Given the description of an element on the screen output the (x, y) to click on. 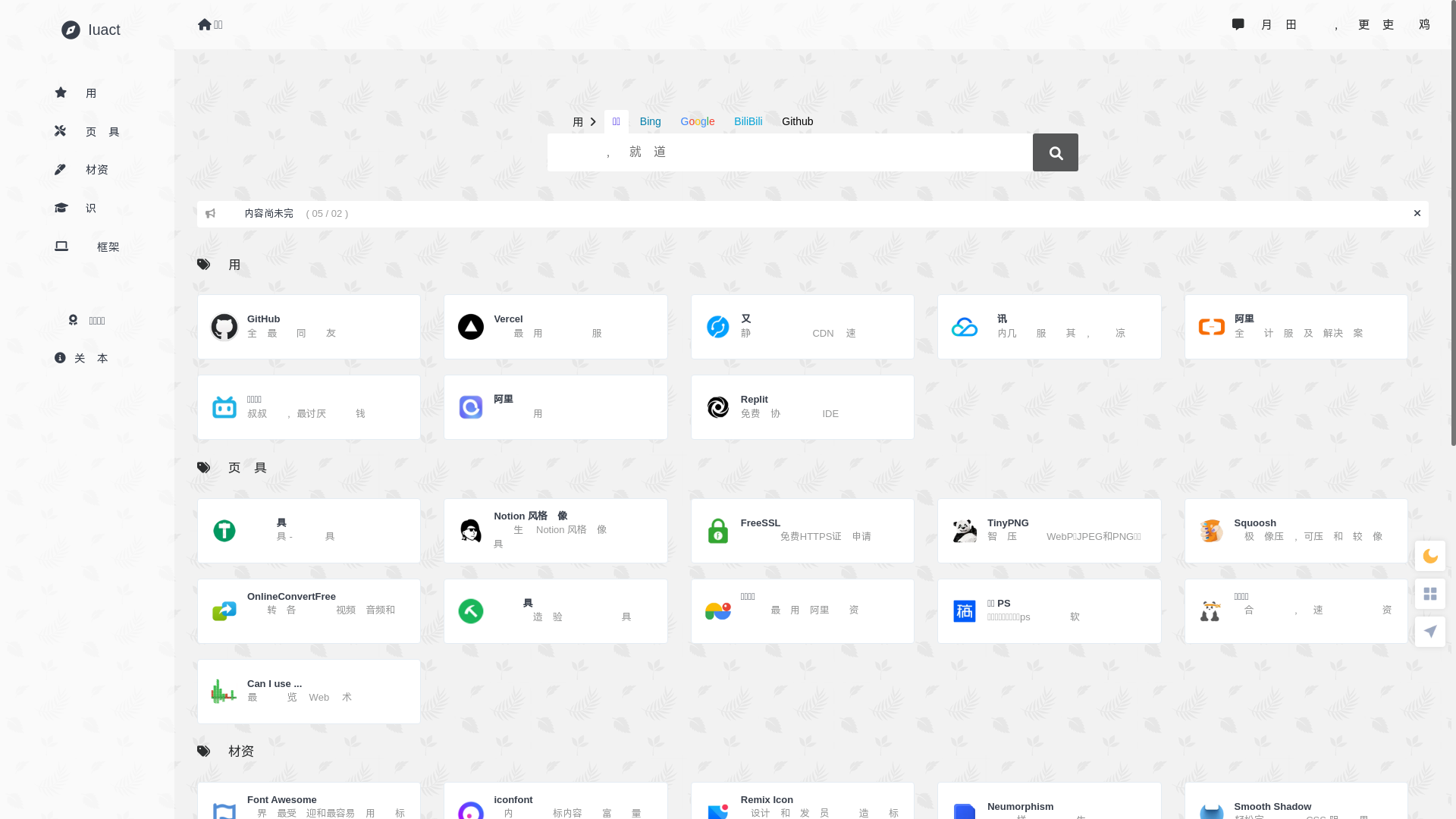
GitHub Element type: text (305, 320)
OnlineConvertFree Element type: text (332, 596)
Neumorphism Element type: text (1045, 807)
0 Element type: text (1430, 631)
FreeSSL Element type: text (825, 523)
0 Element type: text (1430, 555)
Font Awesome Element type: text (332, 800)
TinyPNG Element type: text (1068, 523)
Replit Element type: text (793, 400)
Squoosh Element type: text (1312, 523)
Can I use ... Element type: text (318, 684)
iconfont Element type: text (578, 800)
Vercel Element type: text (556, 320)
Remix Icon Element type: text (825, 800)
Smooth Shadow Element type: text (1305, 807)
Iuact Element type: text (103, 29)
